Given the description of an element on the screen output the (x, y) to click on. 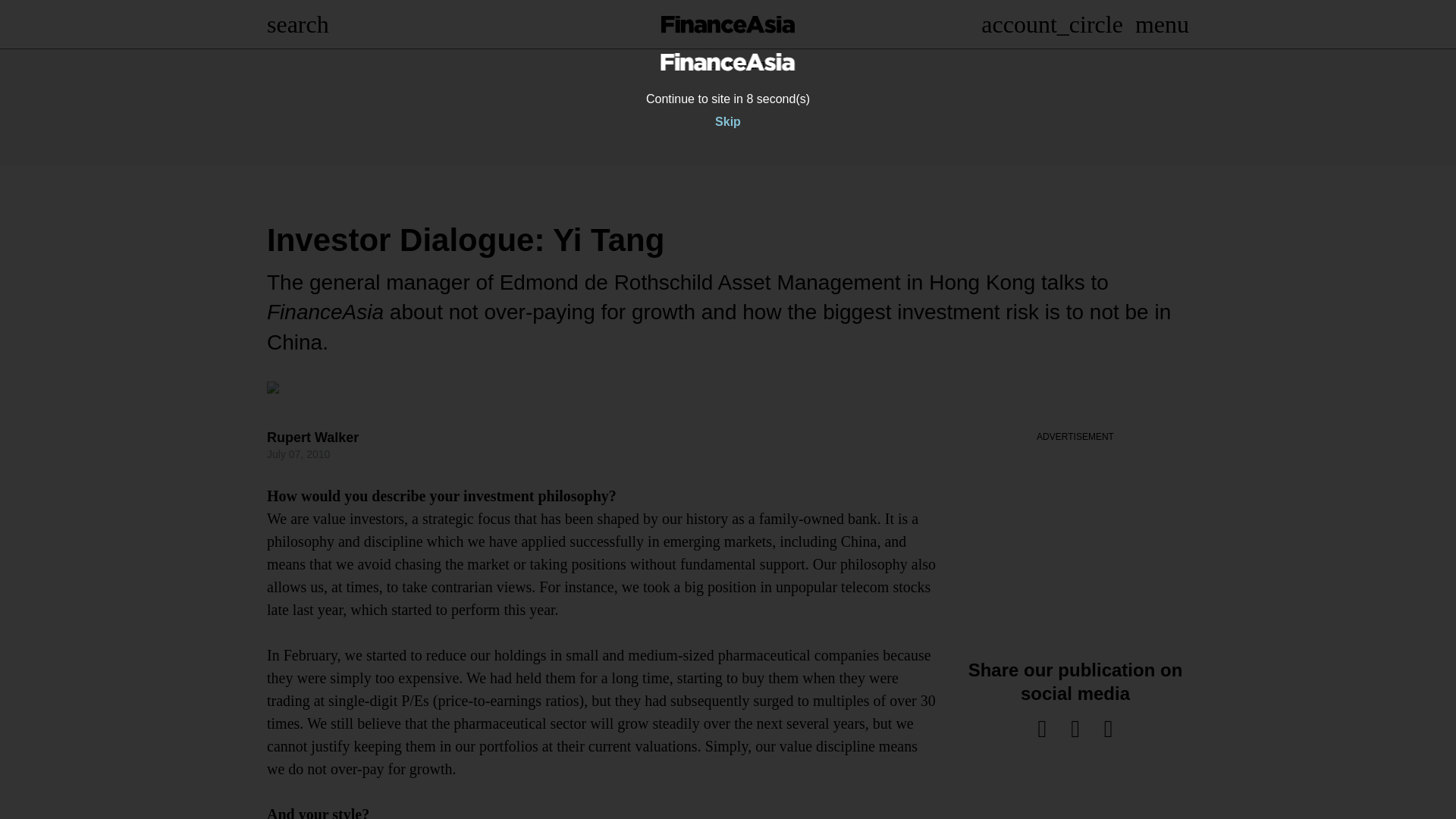
3rd party ad content (727, 107)
Search (297, 24)
Sign In (1051, 24)
Menu (1162, 24)
3rd party ad content (1074, 538)
Rupert Walker (312, 437)
